Given the description of an element on the screen output the (x, y) to click on. 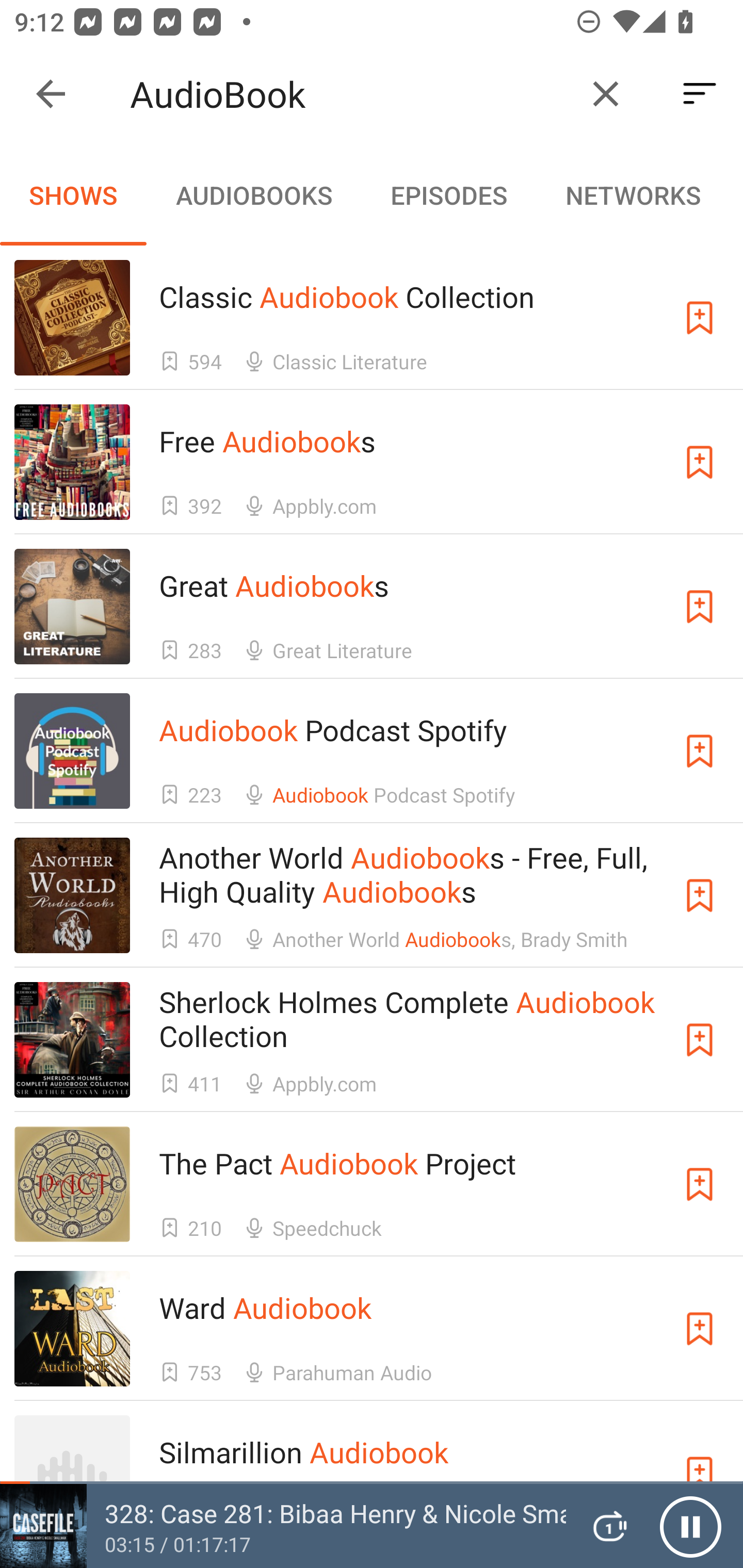
Collapse (50, 93)
Clear query (605, 93)
Sort By (699, 93)
AudioBook (349, 94)
SHOWS (73, 195)
AUDIOBOOKS (253, 195)
EPISODES (448, 195)
NETWORKS (632, 195)
Subscribe (699, 317)
Subscribe (699, 462)
Subscribe (699, 606)
Subscribe (699, 751)
Subscribe (699, 895)
Subscribe (699, 1039)
Subscribe (699, 1183)
Subscribe (699, 1328)
Pause (690, 1526)
